Given the description of an element on the screen output the (x, y) to click on. 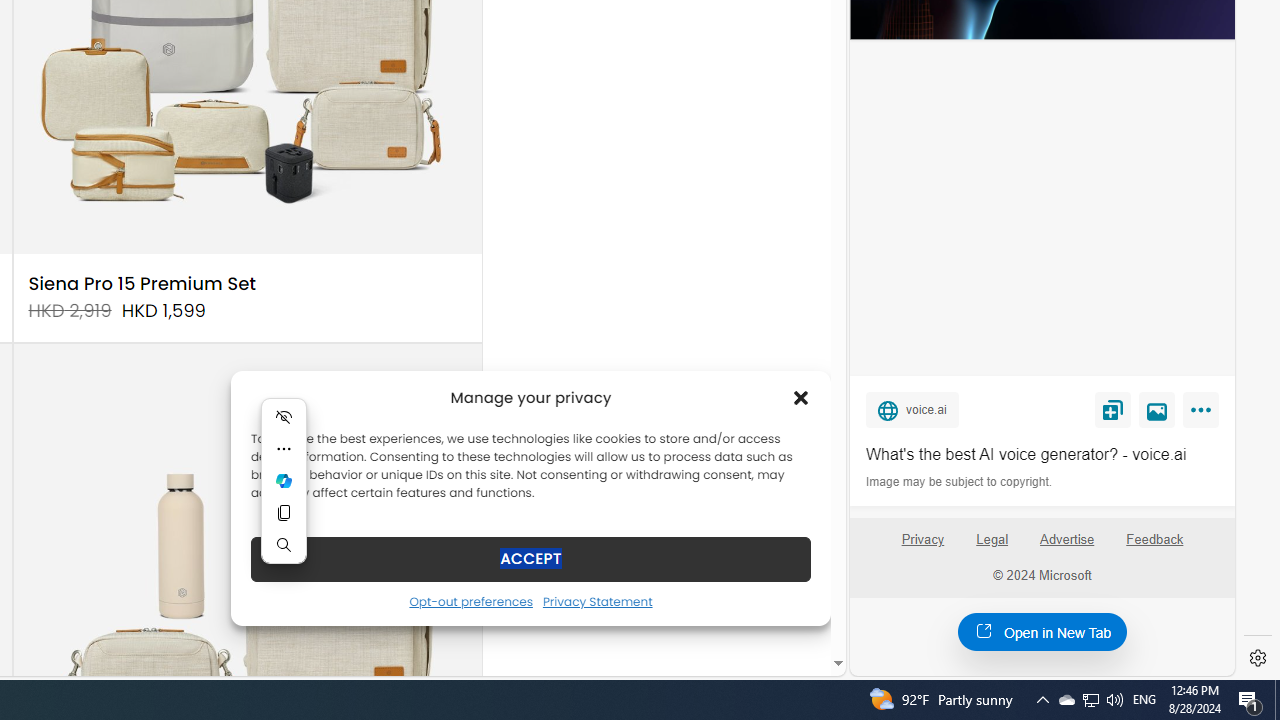
Privacy (922, 547)
voice.ai (912, 409)
Advertise (1067, 547)
Copy (283, 512)
Open in New Tab (1042, 631)
ACCEPT (530, 558)
Mini menu on text selection (283, 480)
View image (1157, 409)
Save (1112, 409)
